Given the description of an element on the screen output the (x, y) to click on. 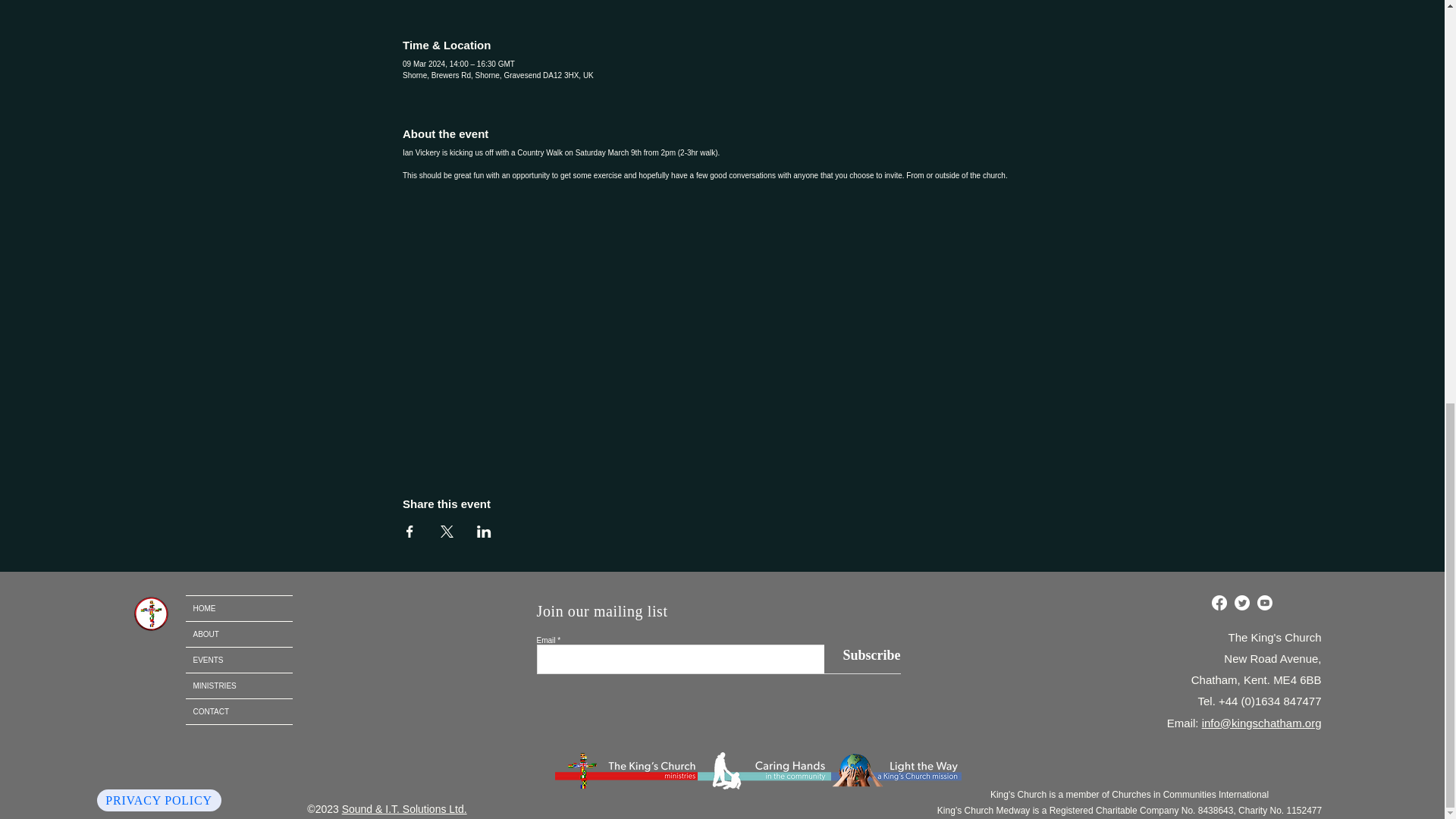
KCM-CIRCLE.png (150, 613)
ABOUT (238, 634)
HOME (238, 608)
EVENTS (238, 659)
Subscribe (861, 655)
MINISTRIES (238, 685)
PRIVACY POLICY (159, 800)
CONTACT (238, 711)
